Given the description of an element on the screen output the (x, y) to click on. 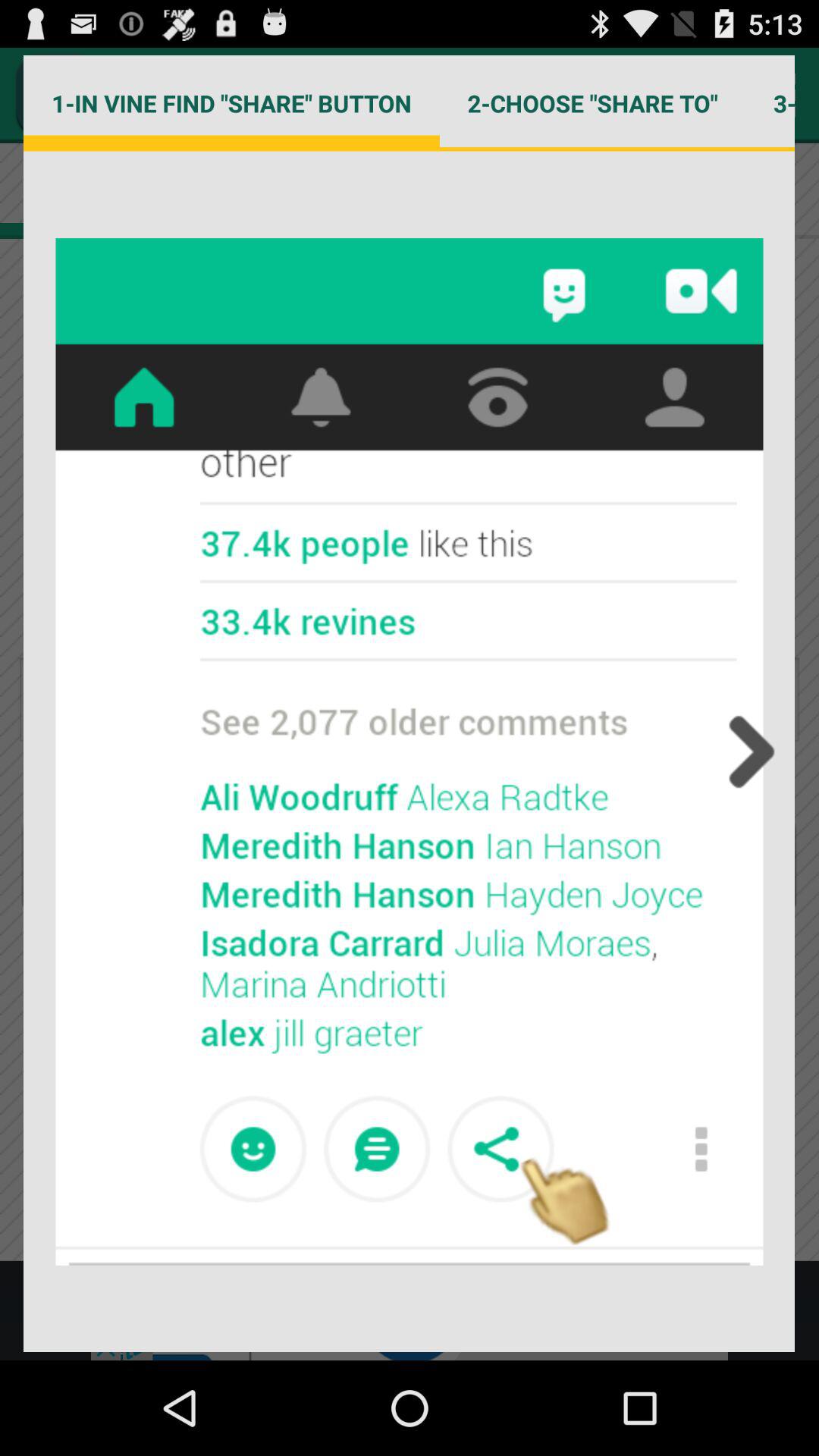
open the icon on the right (747, 751)
